Given the description of an element on the screen output the (x, y) to click on. 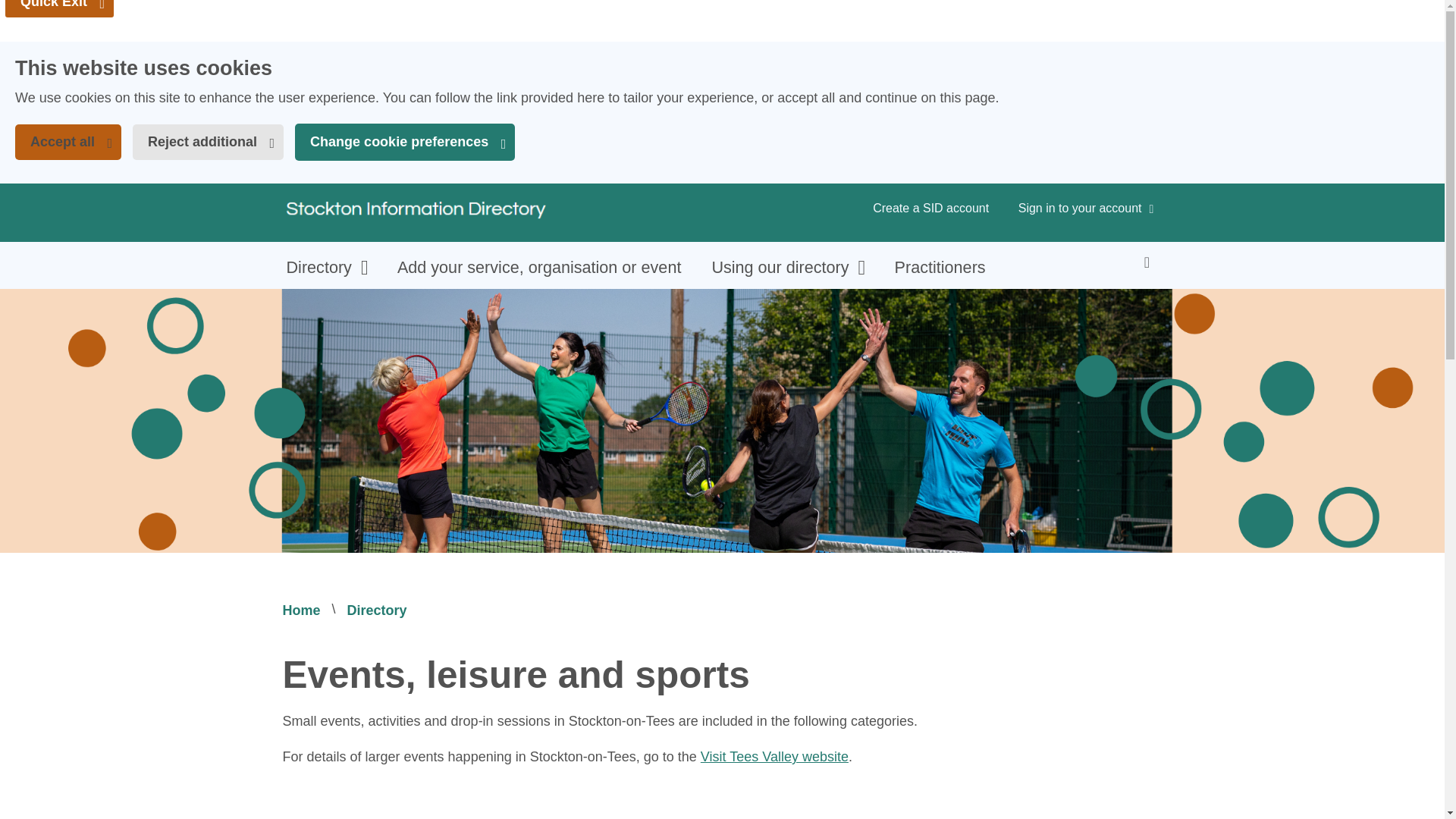
Directory (377, 610)
Search this website (1146, 261)
Directory (325, 267)
Using our directory (787, 267)
Sign in to your account (1085, 209)
Accept all (414, 210)
Immediately exit this page and cover your track (67, 141)
Visit Tees Valley website (59, 9)
Skip to main content (774, 756)
Quick Exit (11, 11)
Practitioners (59, 9)
Home (940, 267)
Change cookie preferences (301, 610)
Add your service, organisation or event (405, 141)
